Given the description of an element on the screen output the (x, y) to click on. 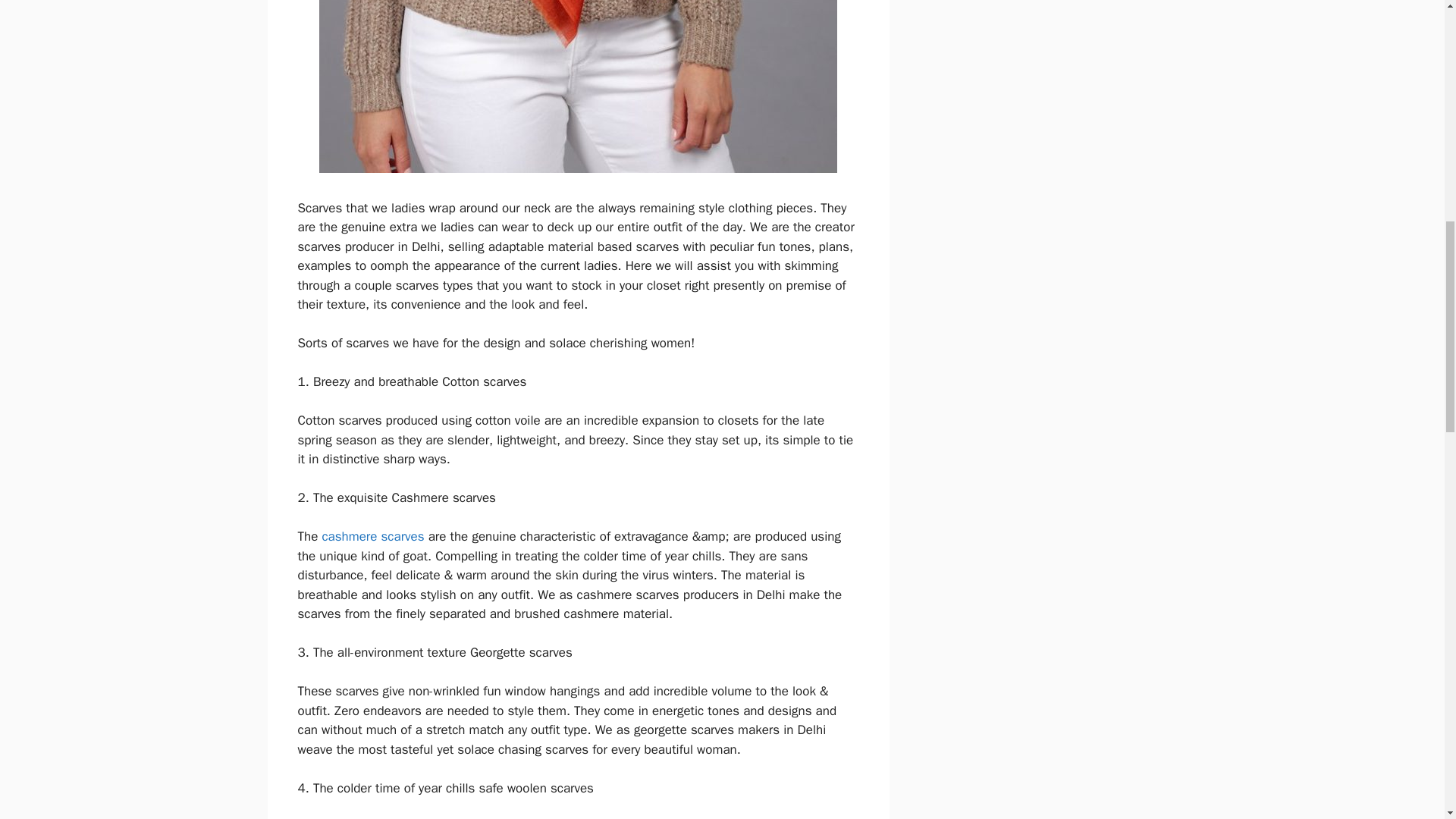
Scroll back to top (1406, 720)
cashmere scarves (372, 536)
